Given the description of an element on the screen output the (x, y) to click on. 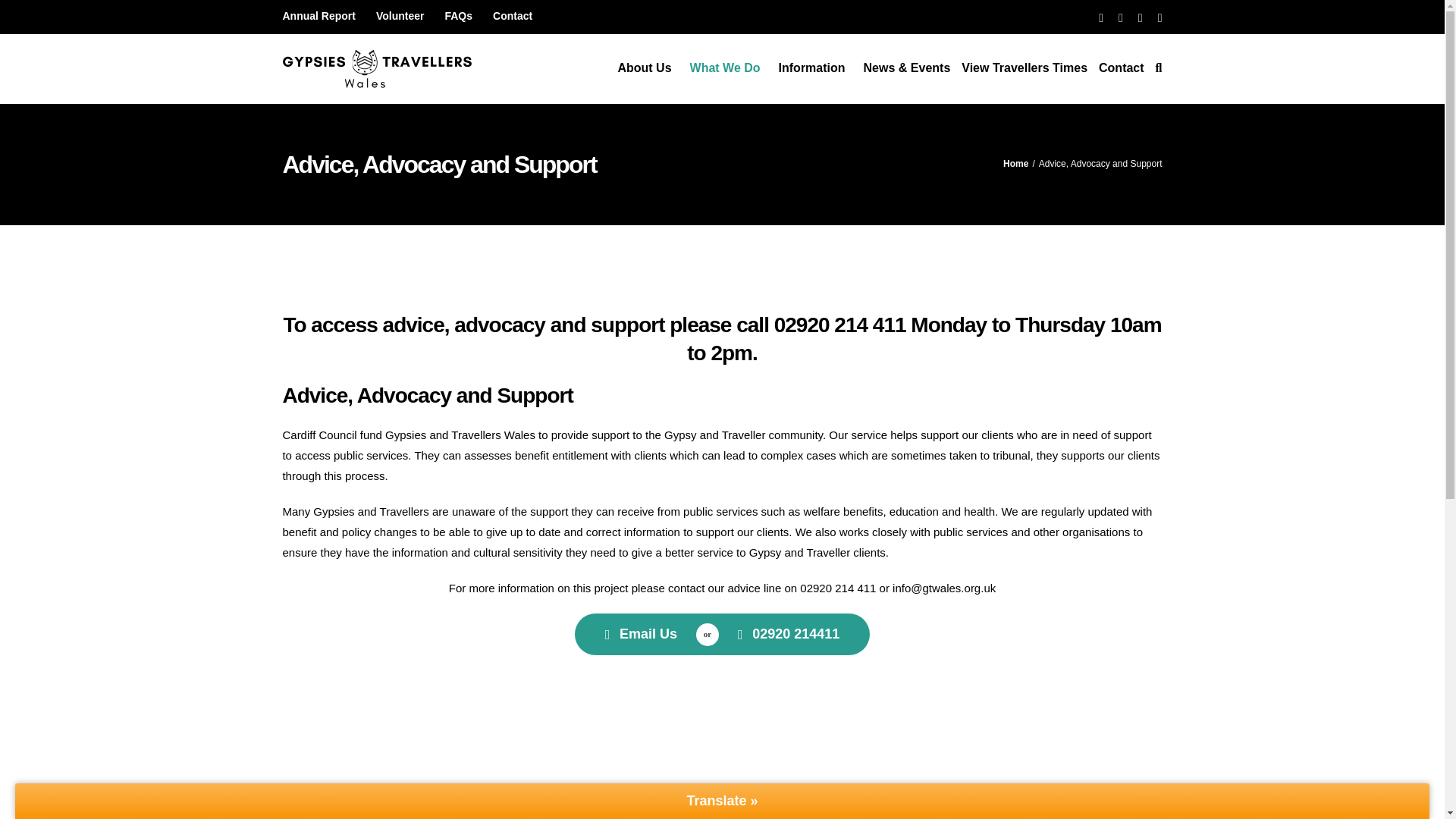
Find an event (641, 634)
Annual Report (323, 16)
About Us (647, 68)
Volunteer (399, 16)
Information (814, 68)
Contact (512, 16)
View Travellers Times (1023, 68)
Get Involved (788, 634)
FAQs (457, 16)
What We Do (728, 68)
